Given the description of an element on the screen output the (x, y) to click on. 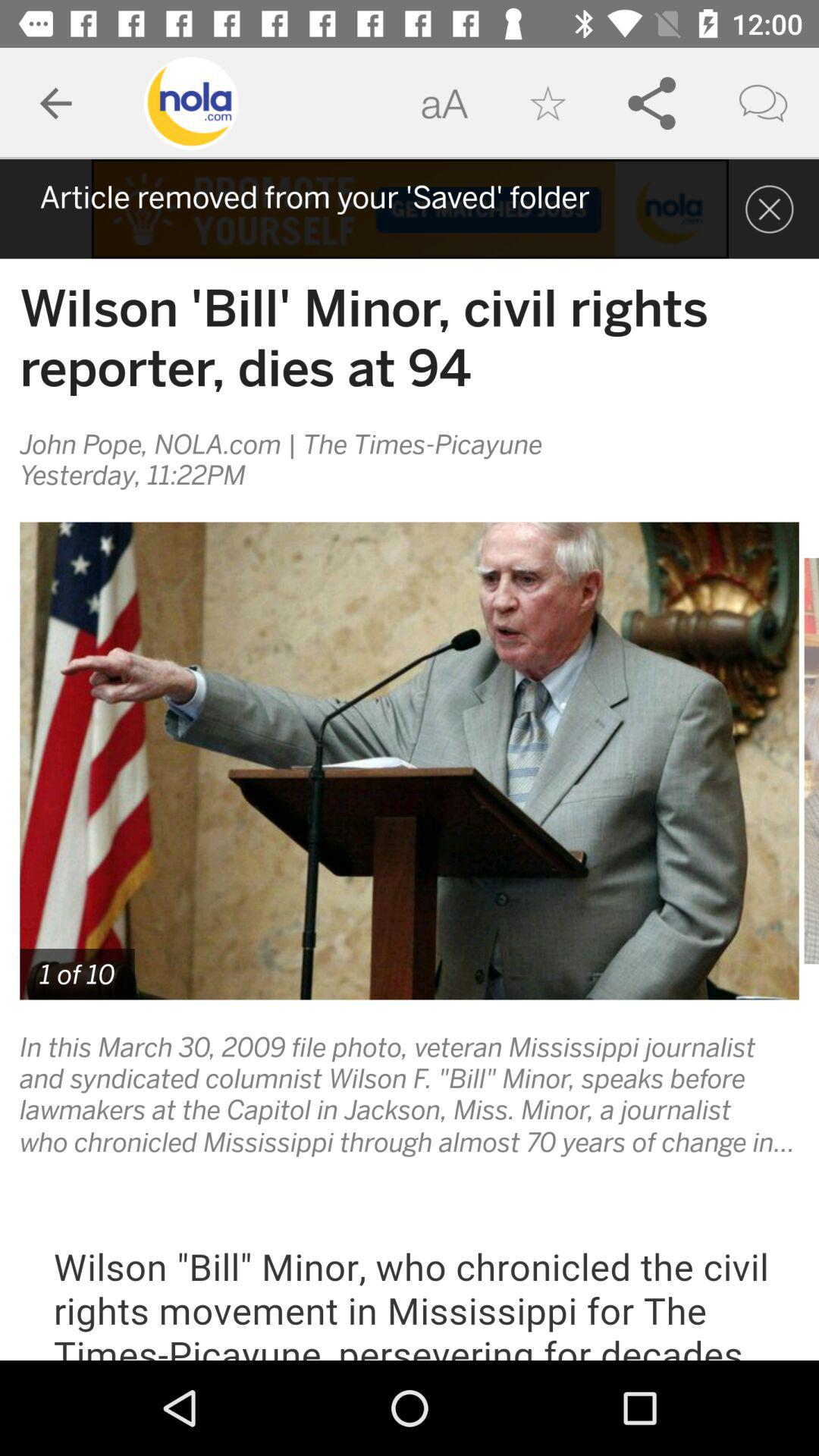
close (769, 208)
